Given the description of an element on the screen output the (x, y) to click on. 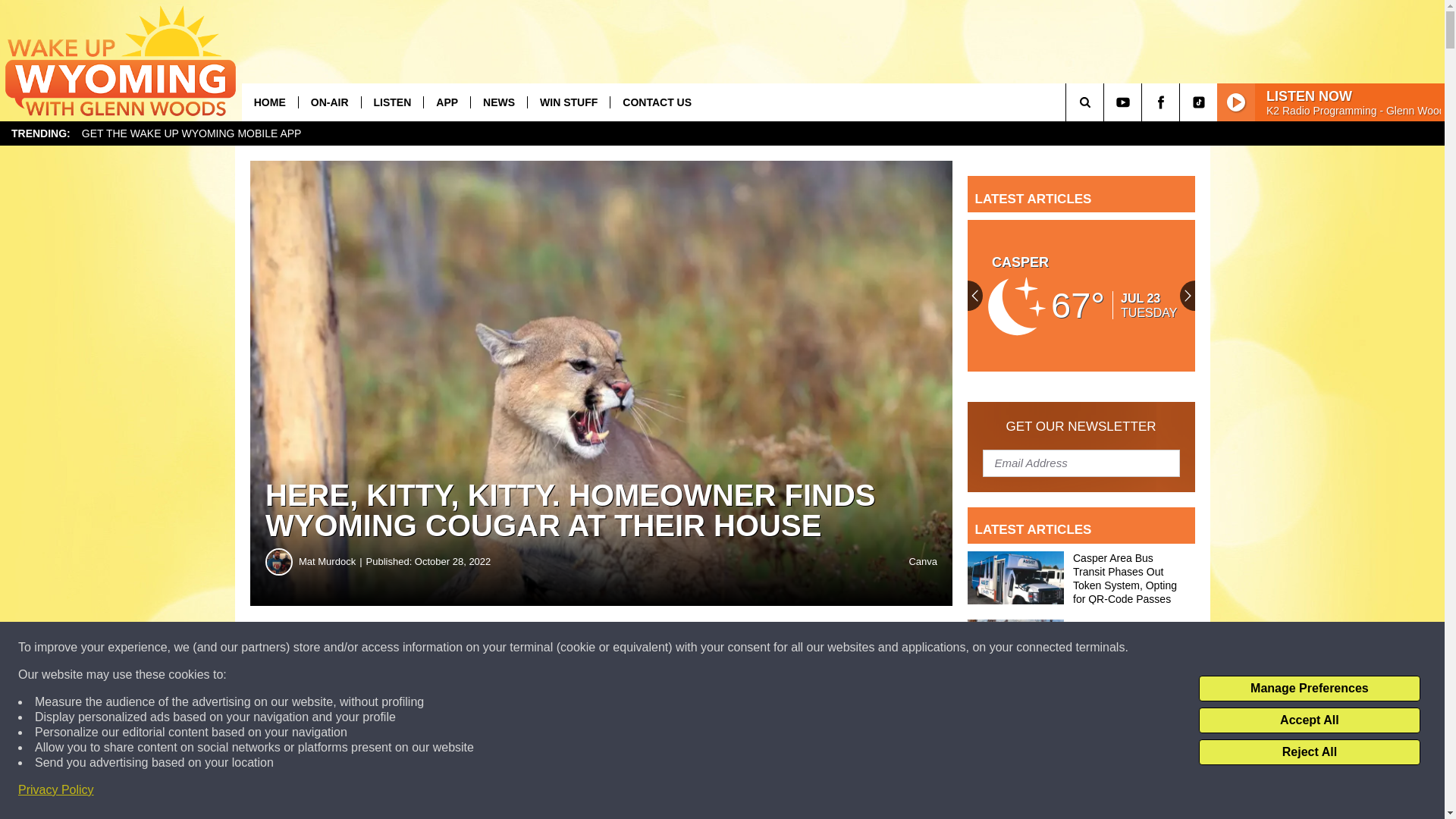
NEWS (498, 102)
Accept All (1309, 720)
CONTACT US (656, 102)
Manage Preferences (1309, 688)
Casper Weather (1081, 295)
GET THE WAKE UP WYOMING MOBILE APP (191, 133)
Share on Facebook (460, 647)
APP (446, 102)
Privacy Policy (55, 789)
Reject All (1309, 751)
Email Address (1080, 461)
Share on Twitter (741, 647)
LISTEN (392, 102)
ON-AIR (329, 102)
HOME (269, 102)
